Given the description of an element on the screen output the (x, y) to click on. 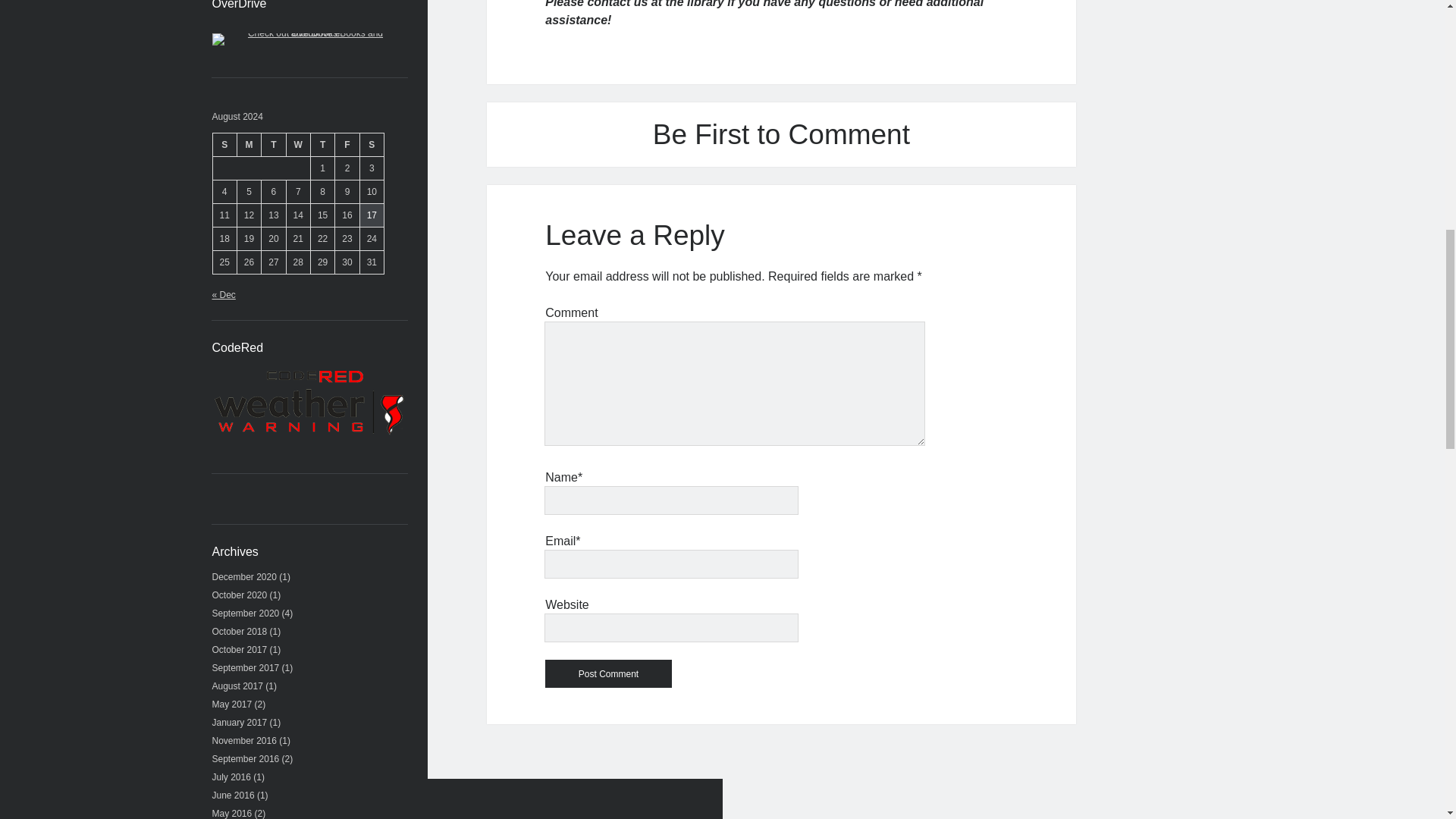
Tuesday (273, 144)
July 2016 (231, 777)
Friday (346, 144)
January 2017 (239, 722)
December 2020 (244, 576)
Monday (247, 144)
September 2016 (245, 758)
May 2017 (231, 704)
Sunday (223, 144)
August 2017 (237, 685)
